Given the description of an element on the screen output the (x, y) to click on. 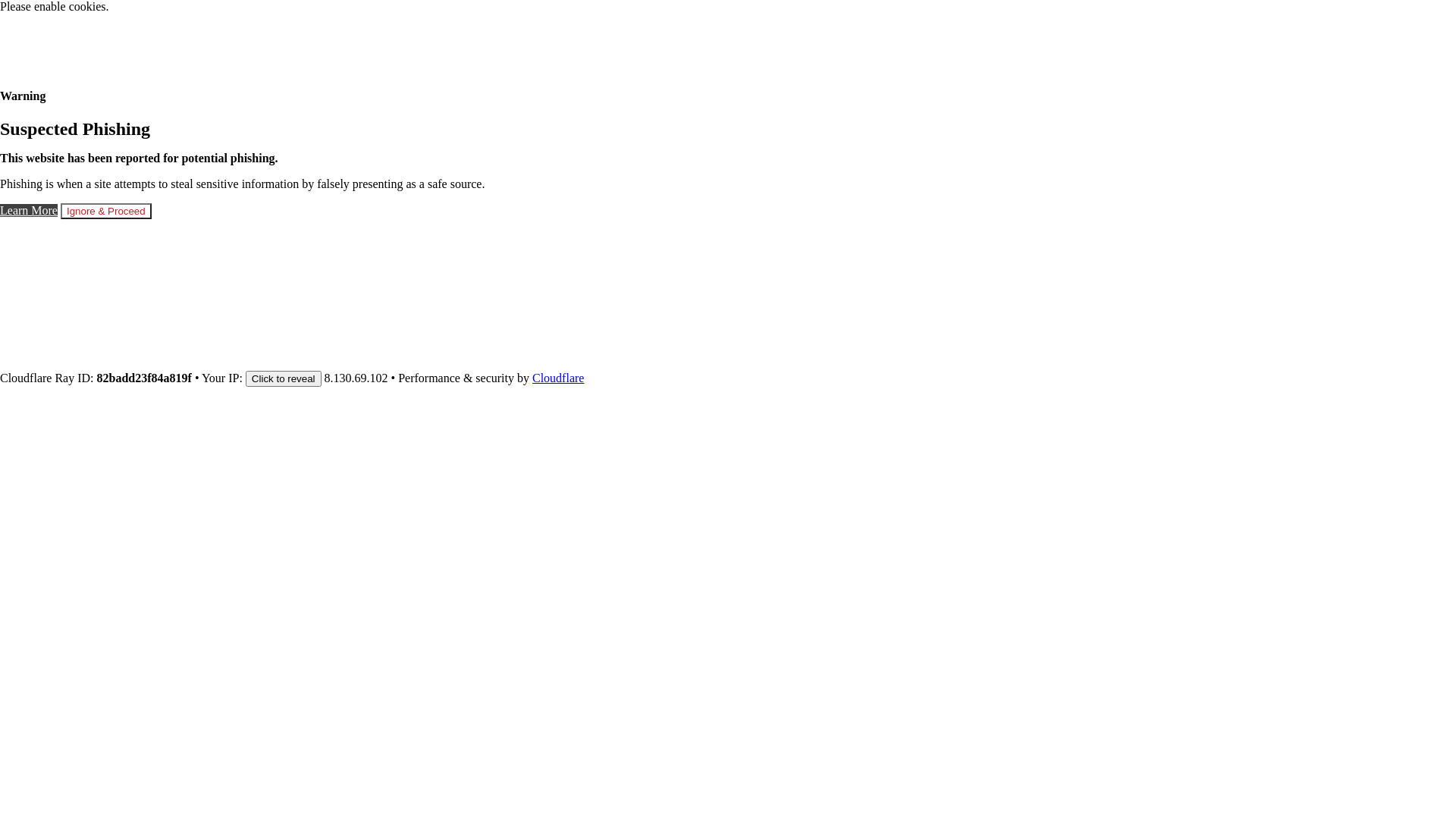
Click to reveal Element type: text (283, 378)
Learn More Element type: text (28, 209)
Ignore & Proceed Element type: text (105, 211)
Cloudflare Element type: text (557, 377)
